Given the description of an element on the screen output the (x, y) to click on. 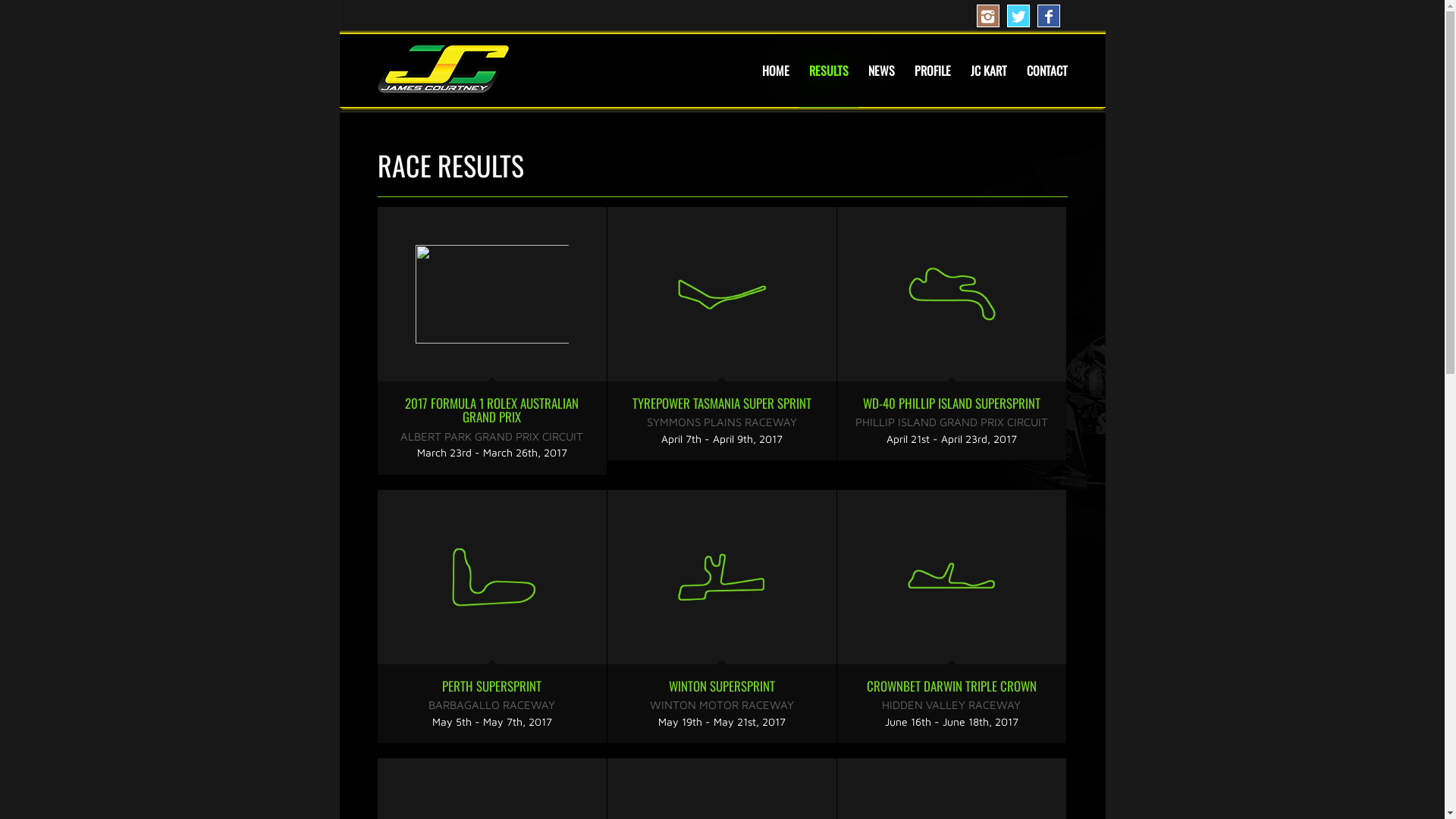
WD-40 PHILLIP ISLAND SUPERSPRINT Element type: hover (951, 294)
2017 FORMULA 1 ROLEX AUSTRALIAN GRAND PRIX Element type: text (491, 409)
RESULTS Element type: text (828, 70)
NEWS Element type: text (881, 70)
WD-40 PHILLIP ISLAND SUPERSPRINT Element type: text (951, 402)
PERTH SUPERSPRINT Element type: hover (491, 576)
2017 FORMULA 1 ROLEX AUSTRALIAN GRAND PRIX Element type: hover (491, 294)
JC KART Element type: text (988, 70)
Facebook Element type: hover (1048, 15)
PROFILE Element type: text (931, 70)
Twitter Element type: hover (1018, 15)
WINTON SUPERSPRINT Element type: hover (720, 576)
CROWNBET DARWIN TRIPLE CROWN Element type: text (950, 685)
Instagram Element type: hover (987, 15)
CONTACT Element type: text (1041, 70)
CROWNBET DARWIN TRIPLE CROWN Element type: hover (951, 576)
HOME Element type: text (775, 70)
PERTH SUPERSPRINT Element type: text (491, 685)
TYREPOWER TASMANIA SUPER SPRINT Element type: hover (720, 294)
